Given the description of an element on the screen output the (x, y) to click on. 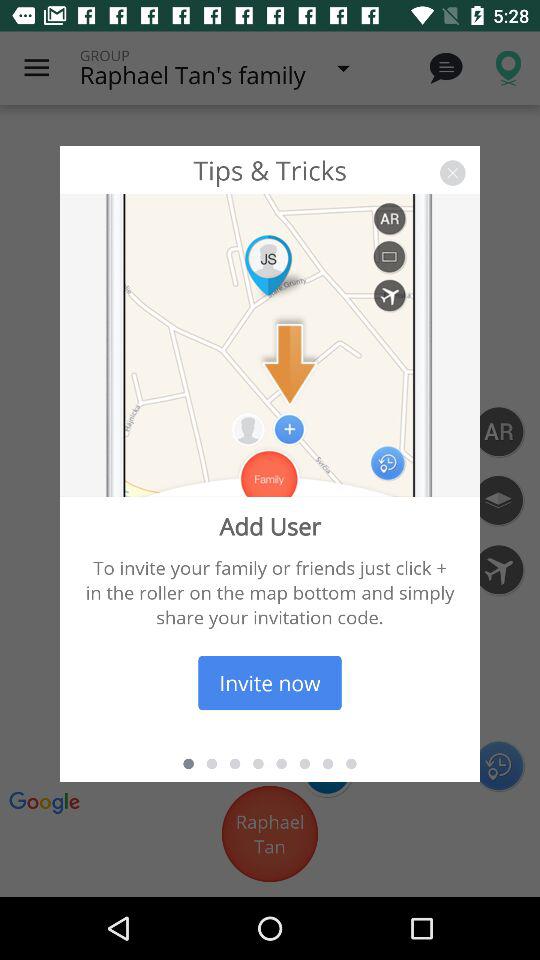
scroll to the invite now icon (269, 682)
